Given the description of an element on the screen output the (x, y) to click on. 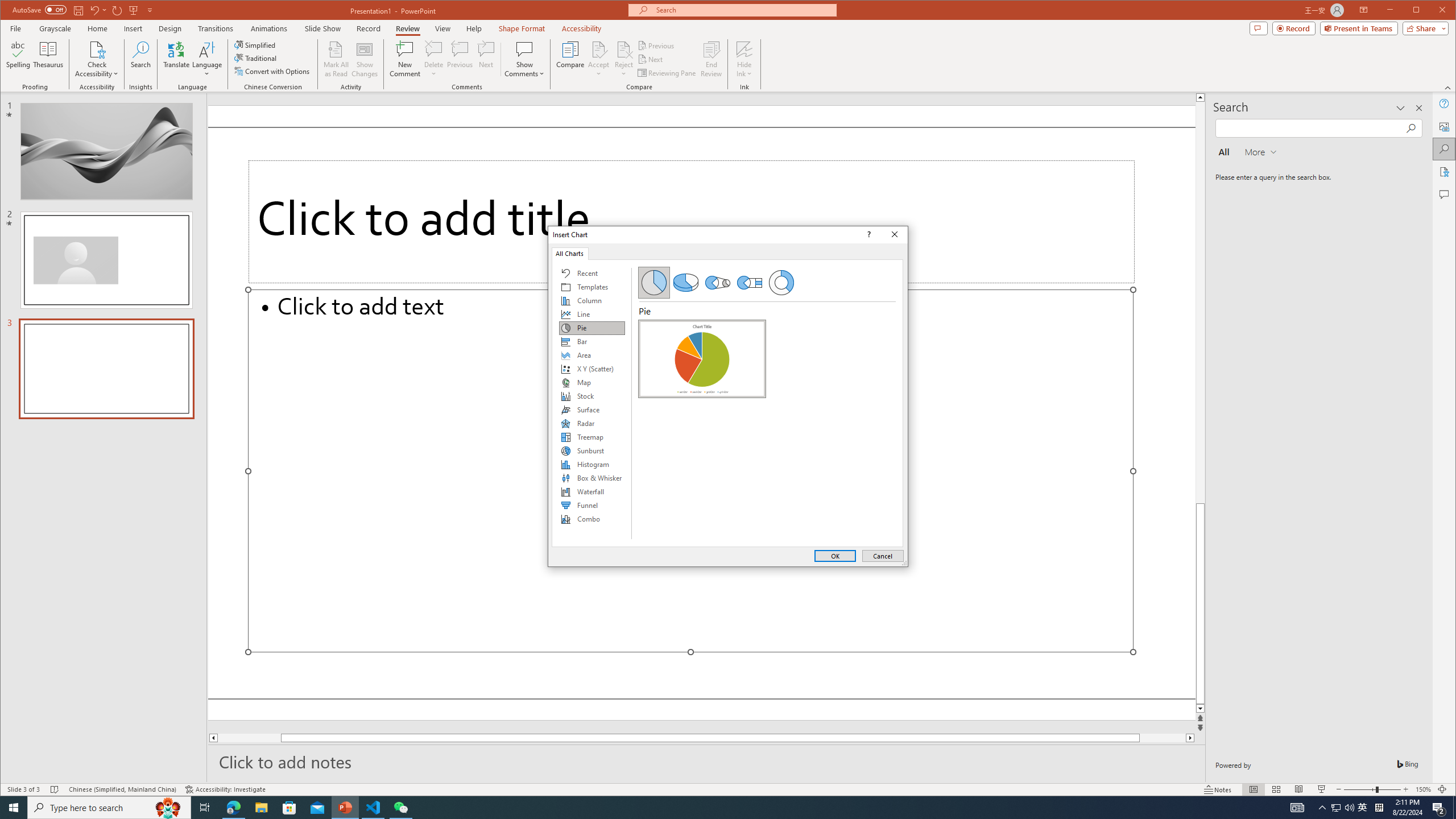
Language (207, 59)
Cancel (882, 555)
Mark All as Read (335, 59)
OK (834, 555)
Show desktop (1454, 807)
Chart Types (591, 403)
Reject (623, 59)
Spelling... (18, 59)
Box & Whisker (591, 477)
Hide Ink (744, 48)
